Given the description of an element on the screen output the (x, y) to click on. 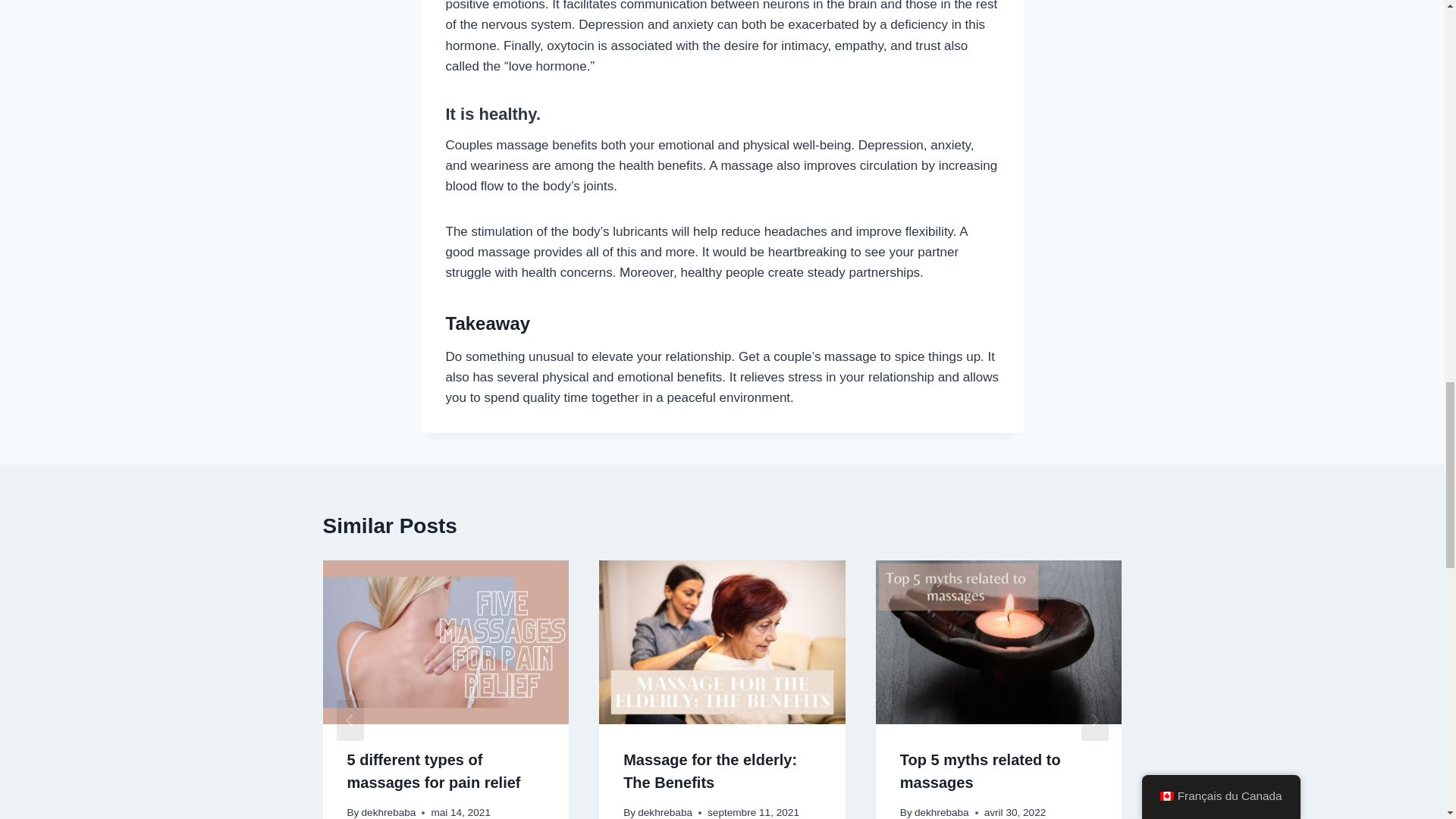
Massage for the elderly: The Benefits (709, 771)
5 different types of massages for pain relief (434, 771)
Top 5 myths related to massages (980, 771)
dekhrebaba (388, 812)
dekhrebaba (665, 812)
dekhrebaba (941, 812)
